Given the description of an element on the screen output the (x, y) to click on. 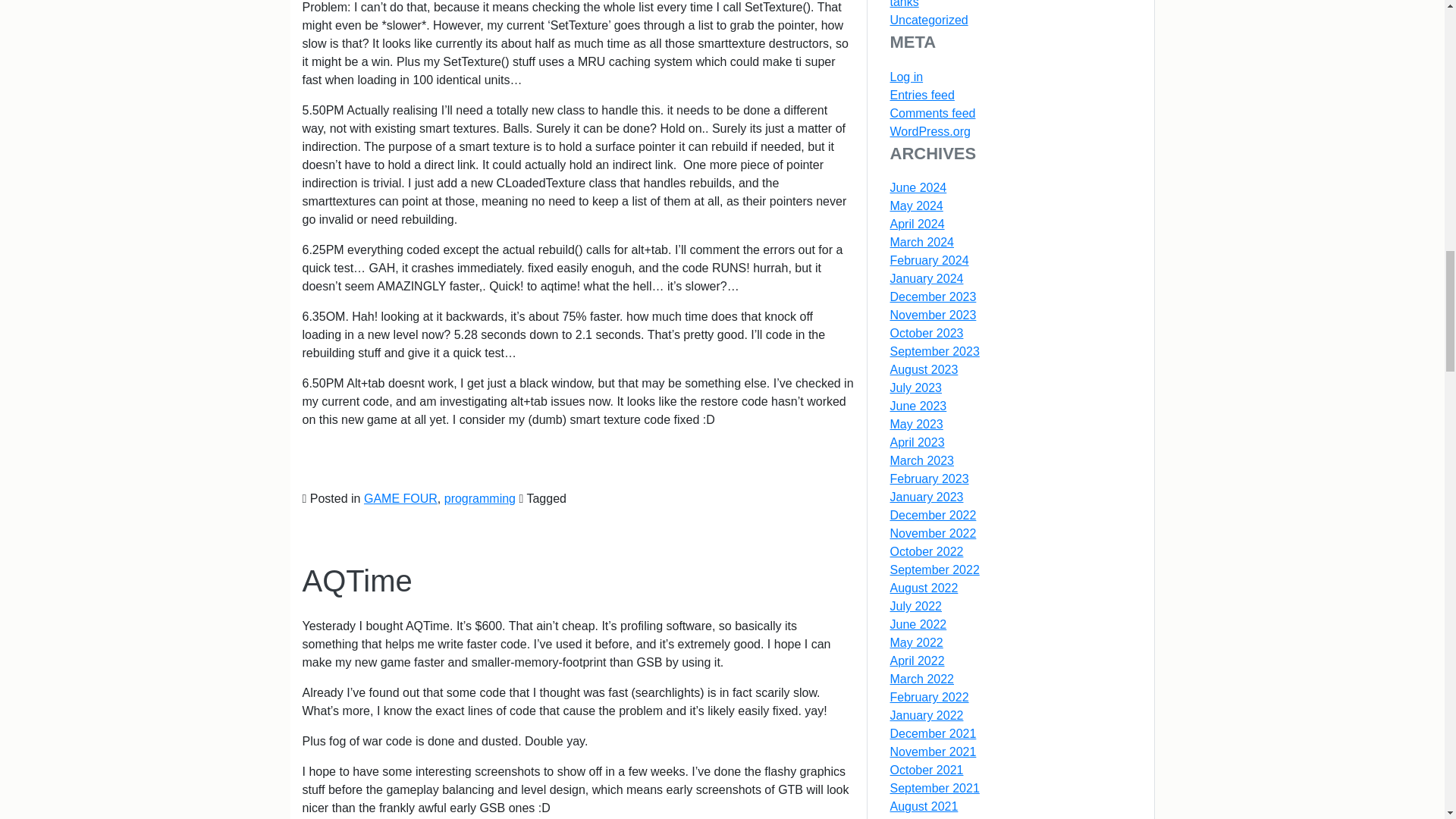
GAME FOUR (401, 498)
AQTime (356, 580)
programming (479, 498)
